Given the description of an element on the screen output the (x, y) to click on. 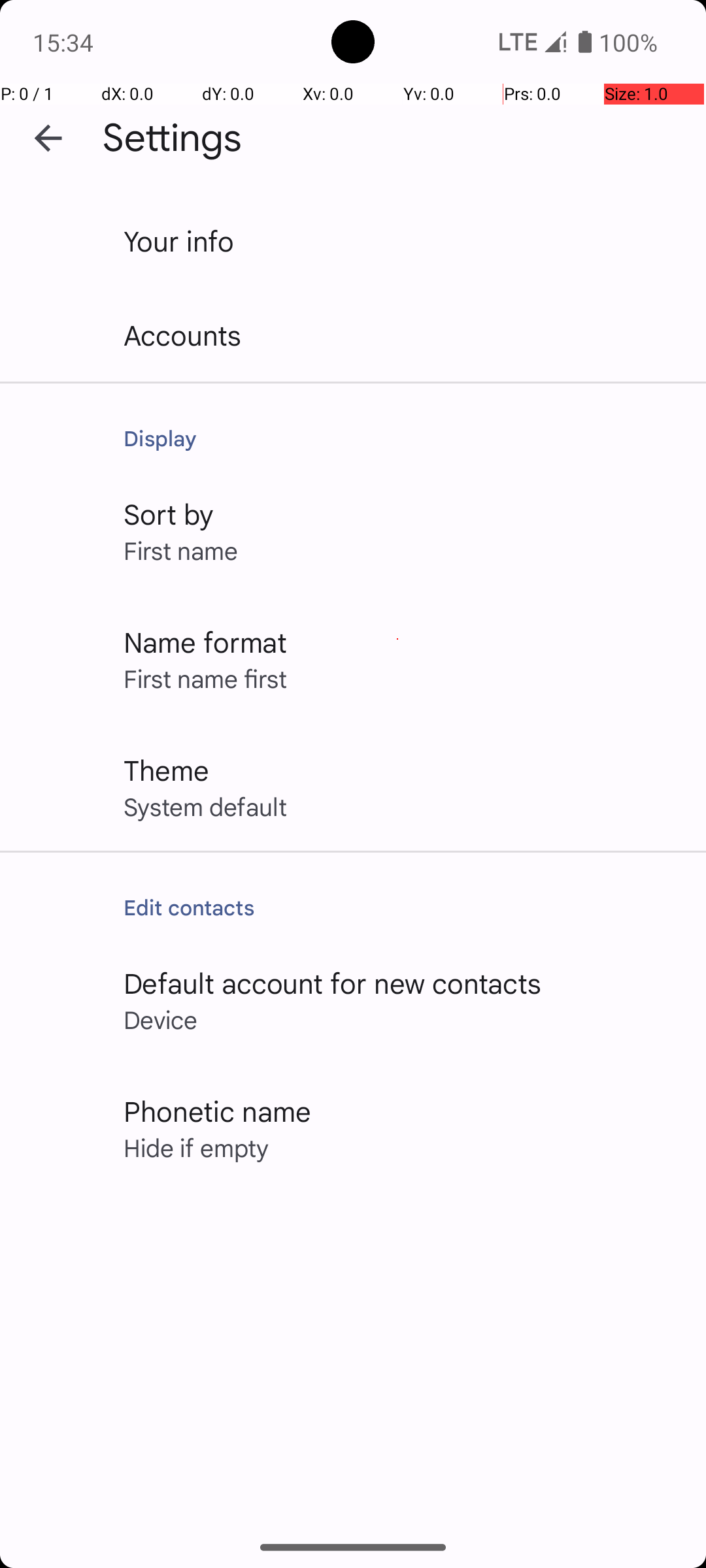
Your info Element type: android.widget.TextView (178, 240)
Accounts Element type: android.widget.TextView (182, 334)
Display Element type: android.widget.TextView (400, 437)
Name format Element type: android.widget.TextView (205, 641)
First name first Element type: android.widget.TextView (204, 678)
Edit contacts Element type: android.widget.TextView (400, 906)
Default account for new contacts Element type: android.widget.TextView (332, 982)
Phonetic name Element type: android.widget.TextView (217, 1110)
Hide if empty Element type: android.widget.TextView (196, 1147)
